Given the description of an element on the screen output the (x, y) to click on. 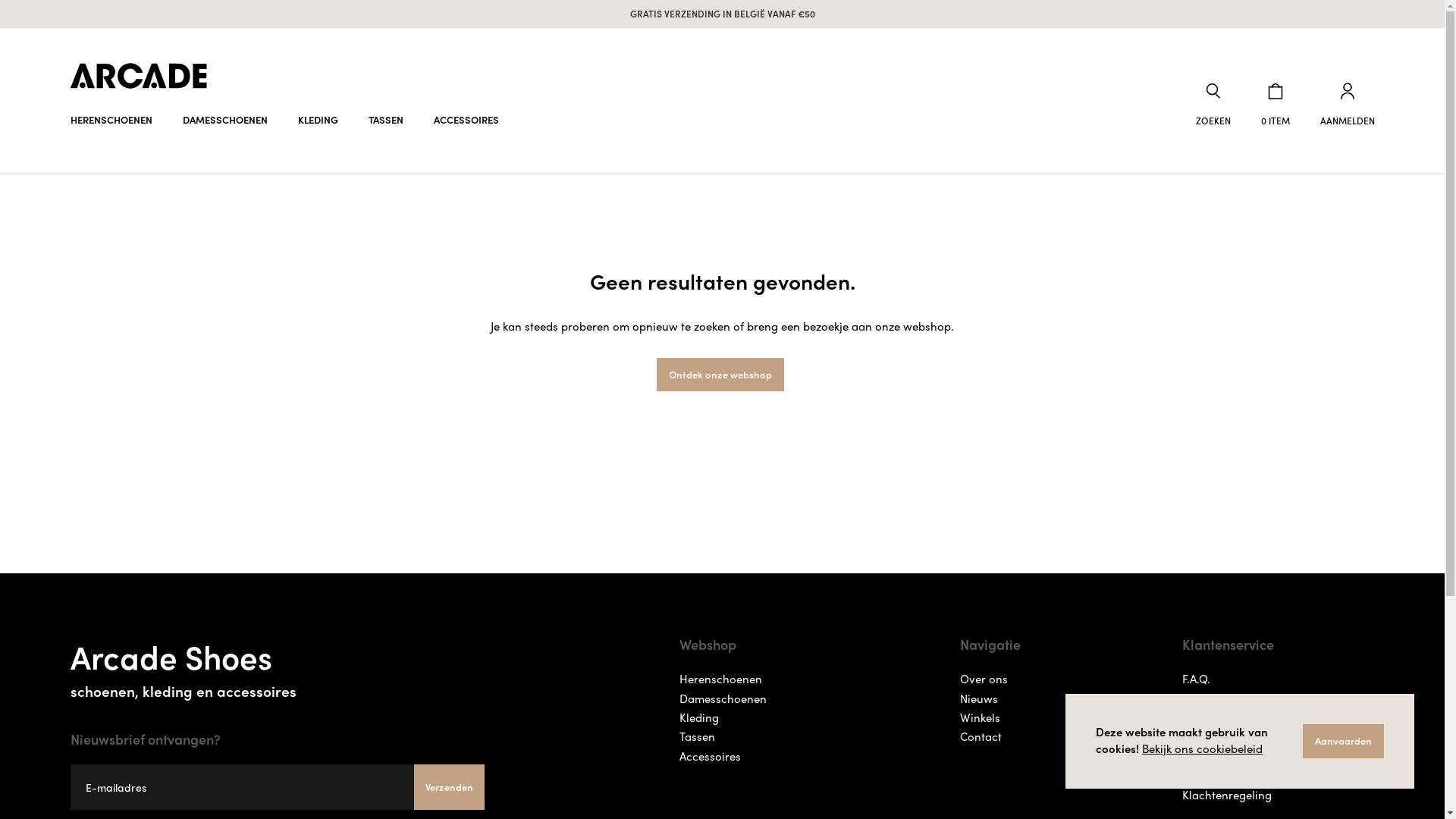
Verkoopsvoorwaarden Element type: text (1241, 755)
TASSEN Element type: text (385, 119)
Aanvaarden Element type: text (1342, 741)
ZOEKEN Element type: text (1212, 104)
Herenschoenen Element type: text (720, 678)
Klachtenregeling Element type: text (1226, 794)
HERENSCHOENEN Element type: text (110, 119)
Disclaimer Element type: text (1210, 717)
Damesschoenen Element type: text (722, 698)
0 ITEM Element type: text (1274, 104)
Ontdek onze webshop Element type: text (720, 374)
Retours Element type: text (1202, 774)
Privacy Element type: text (1201, 698)
AANMELDEN Element type: text (1346, 104)
Cookies Element type: text (1202, 736)
F.A.Q. Element type: text (1196, 678)
Winkels Element type: text (980, 717)
Kleding Element type: text (698, 717)
Accessoires Element type: text (709, 755)
KLEDING Element type: text (317, 119)
Verzenden Element type: text (449, 786)
Over ons Element type: text (983, 678)
DAMESSCHOENEN Element type: text (224, 119)
ACCESSOIRES Element type: text (466, 119)
Nieuws Element type: text (978, 698)
Tassen Element type: text (697, 736)
Contact Element type: text (980, 736)
Arcade Shoes
schoenen, kleding en accessoires Element type: text (276, 666)
Bekijk ons cookiebeleid Element type: text (1202, 748)
